Given the description of an element on the screen output the (x, y) to click on. 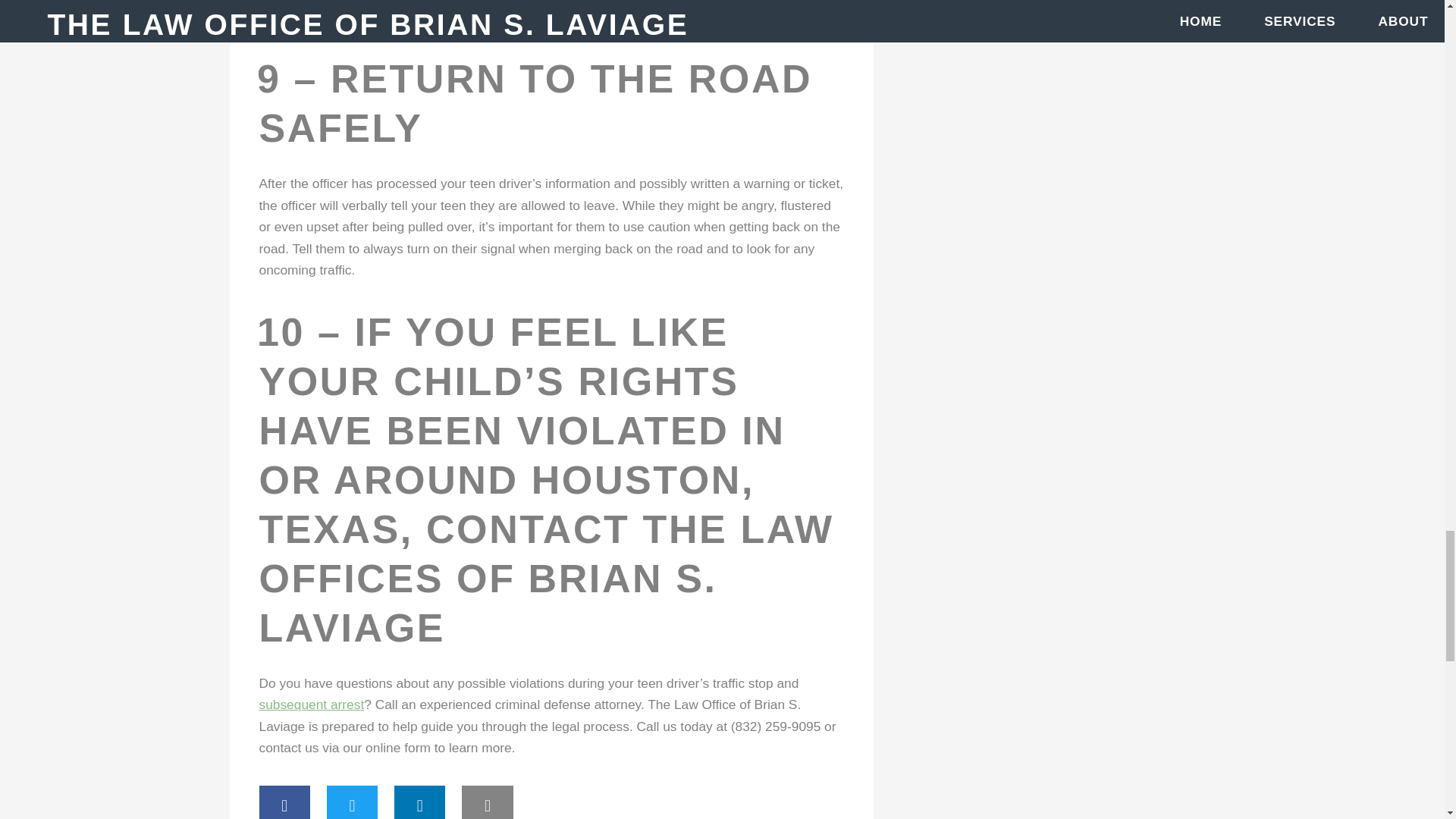
subsequent arrest (312, 703)
